Given the description of an element on the screen output the (x, y) to click on. 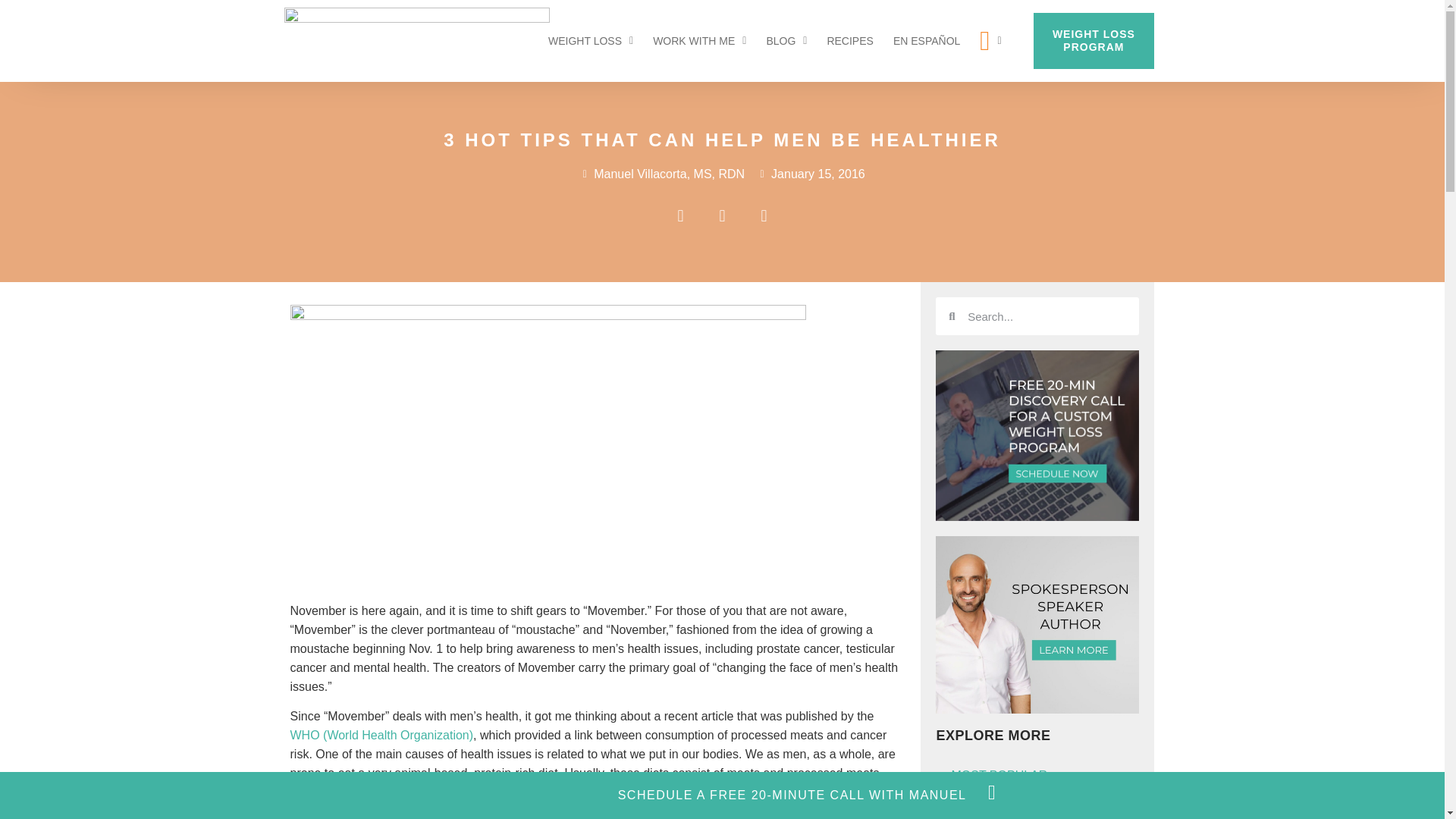
RECIPES (849, 40)
BLOG (785, 40)
WORK WITH ME (699, 40)
WEIGHT LOSS (590, 40)
